Given the description of an element on the screen output the (x, y) to click on. 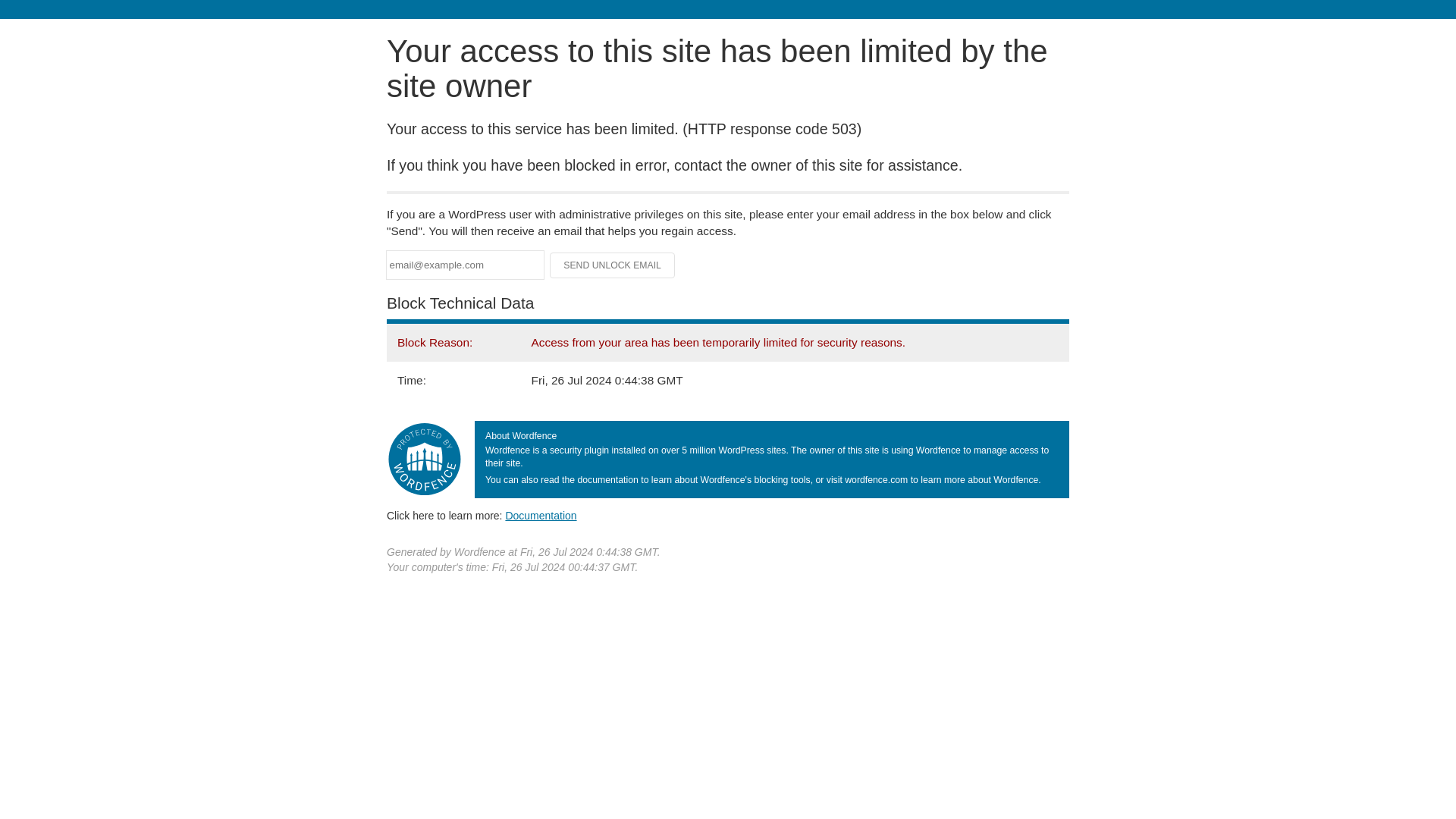
Documentation (540, 515)
Send Unlock Email (612, 265)
Send Unlock Email (612, 265)
